Given the description of an element on the screen output the (x, y) to click on. 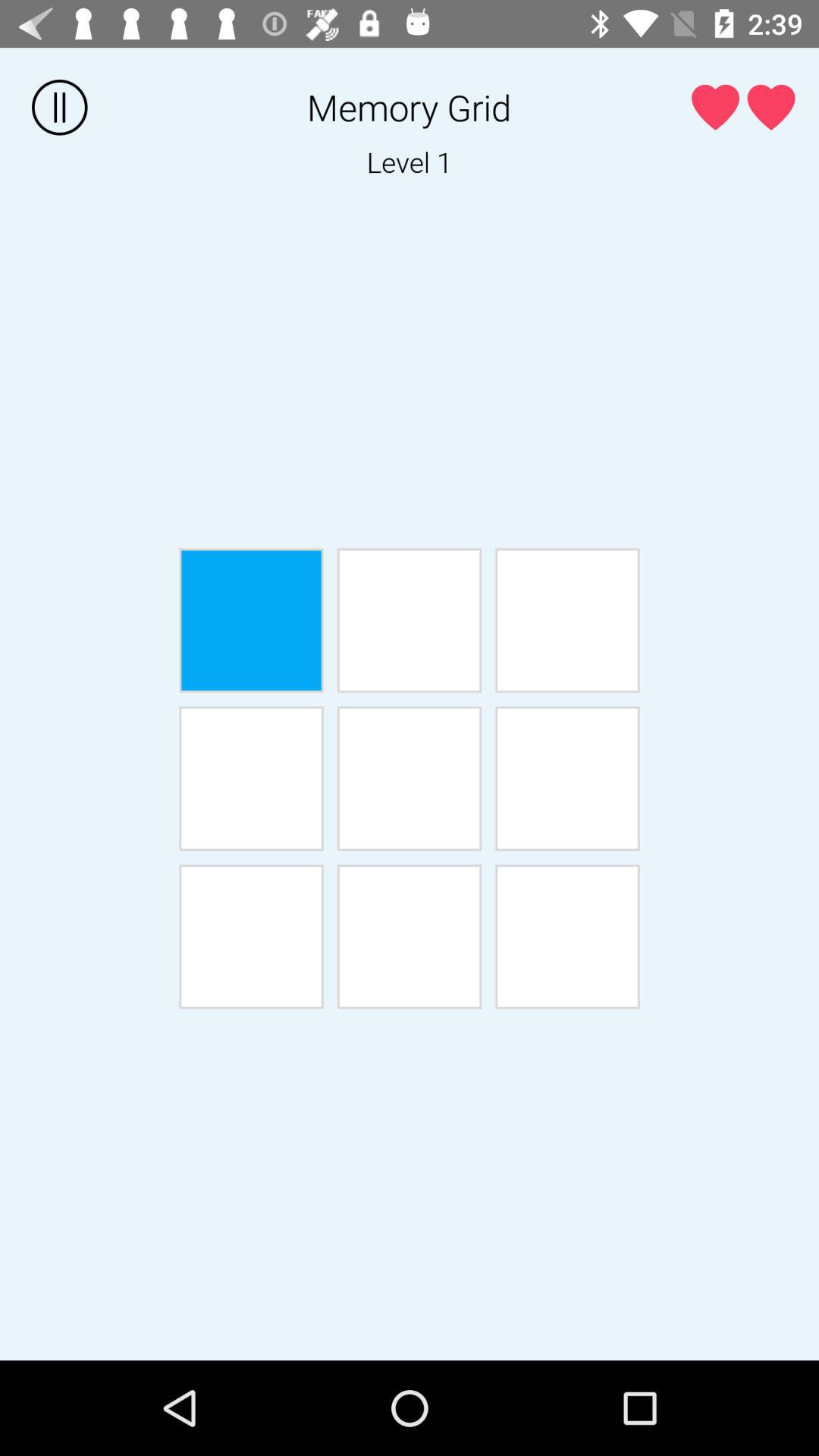
one of the square in whole (251, 936)
